Given the description of an element on the screen output the (x, y) to click on. 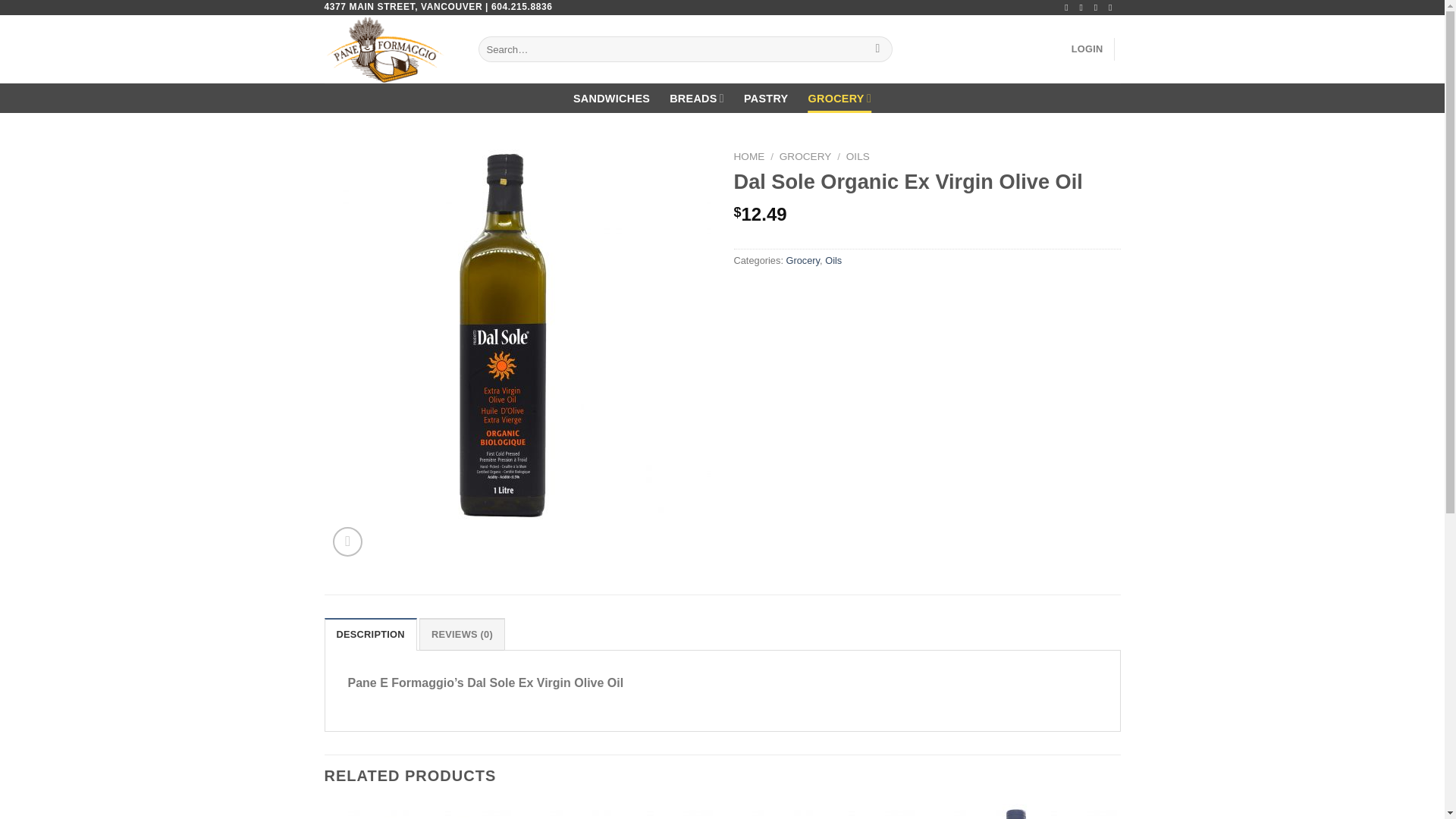
OILS (857, 156)
Grocery (802, 260)
Pane Formaggio (389, 49)
GROCERY (839, 98)
Login (1087, 49)
DESCRIPTION (370, 634)
Oils (833, 260)
BREADS (696, 98)
GROCERY (804, 156)
SANDWICHES (611, 98)
HOME (749, 156)
LOGIN (1087, 49)
PASTRY (766, 98)
Zoom (347, 541)
Search (876, 49)
